Given the description of an element on the screen output the (x, y) to click on. 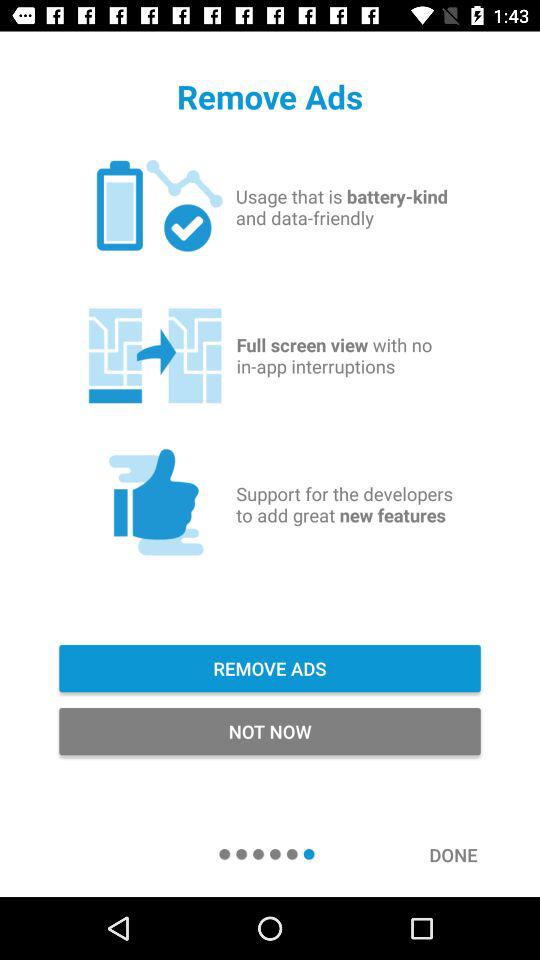
flip until done item (463, 854)
